Given the description of an element on the screen output the (x, y) to click on. 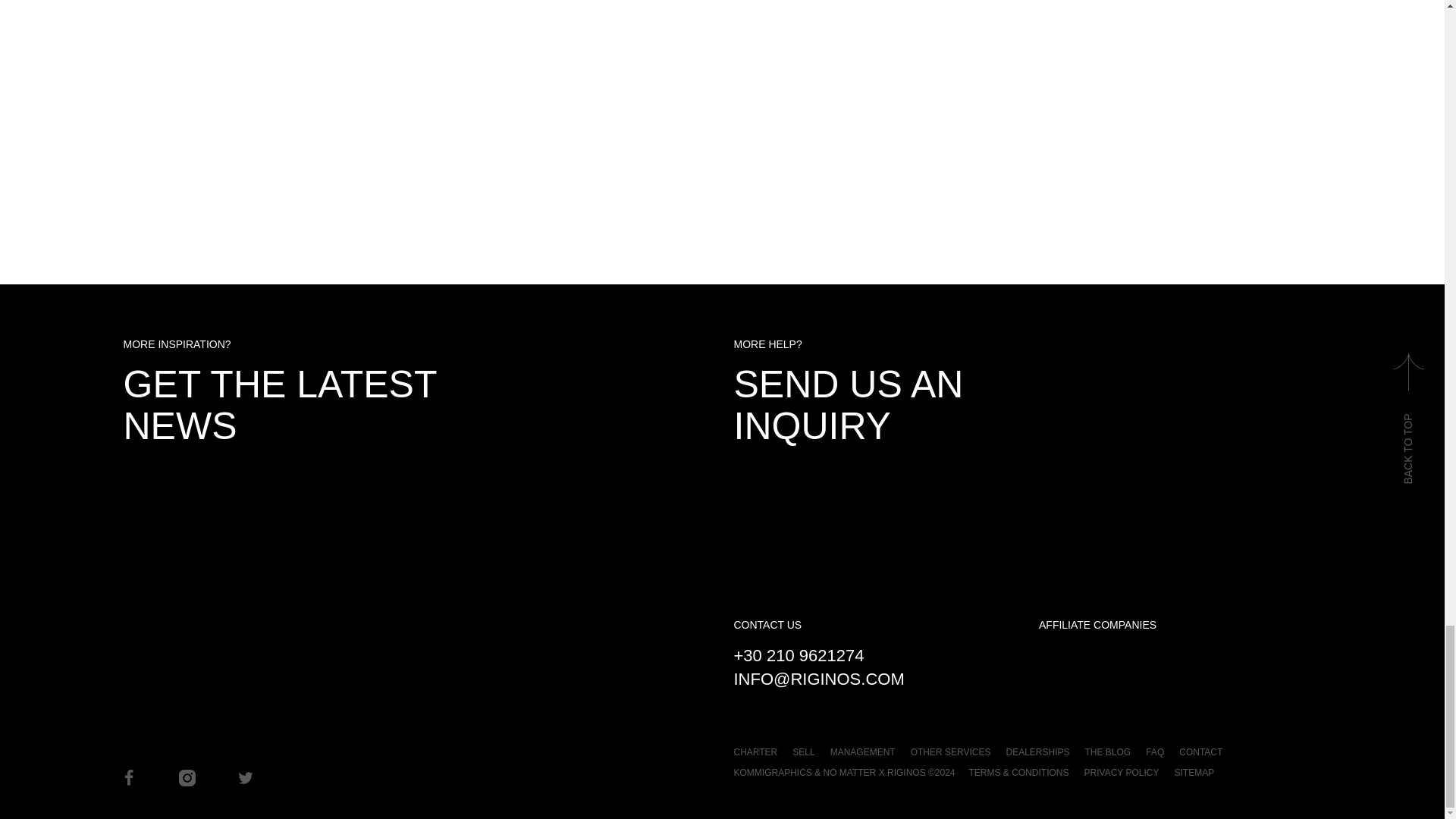
Twitter (244, 776)
Facebook (128, 776)
Instagram (187, 776)
